Given the description of an element on the screen output the (x, y) to click on. 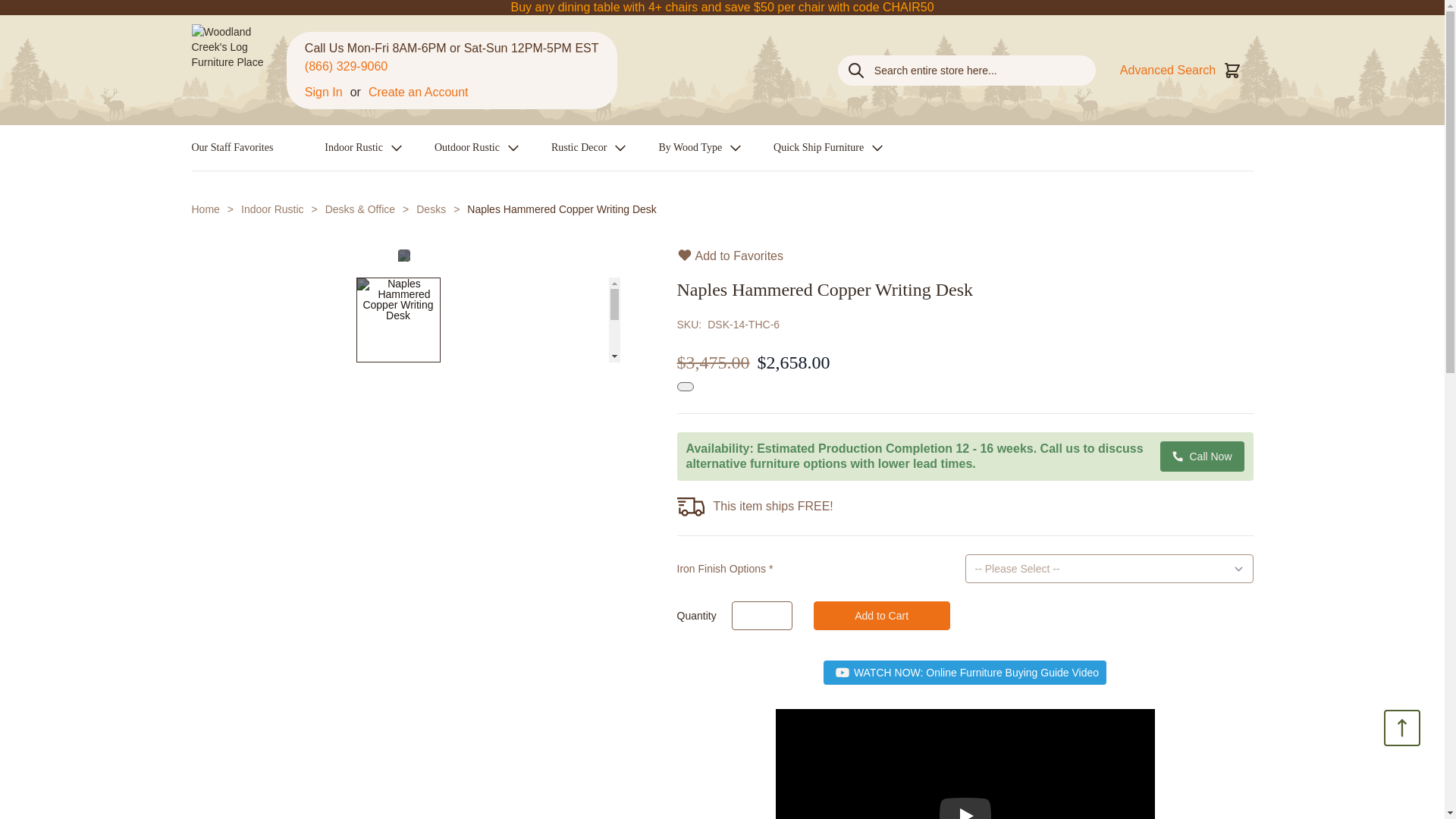
Sign In (323, 92)
Cart (1231, 69)
Woodland Creek's Log Furniture Place (237, 70)
Create an Account (418, 92)
Search (855, 69)
Advanced Search (1167, 69)
